Given the description of an element on the screen output the (x, y) to click on. 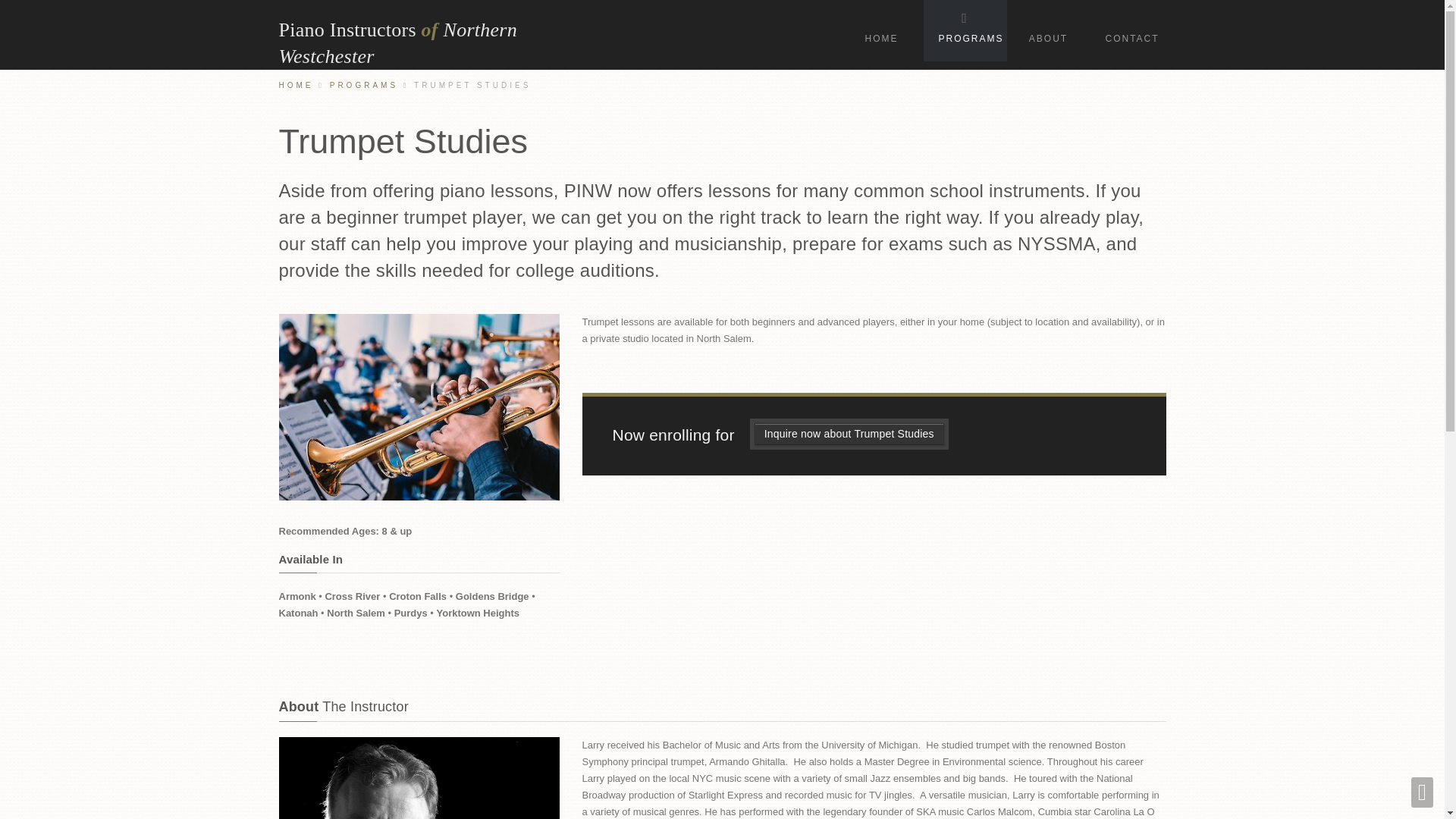
PROGRAMS (363, 85)
Piano Instructors of Northern Westchester (437, 42)
HOME (881, 30)
Inquire now about Trumpet Studies (848, 434)
CONTACT (1131, 30)
PROGRAMS (965, 30)
HOME (296, 85)
ABOUT (1048, 30)
